Given the description of an element on the screen output the (x, y) to click on. 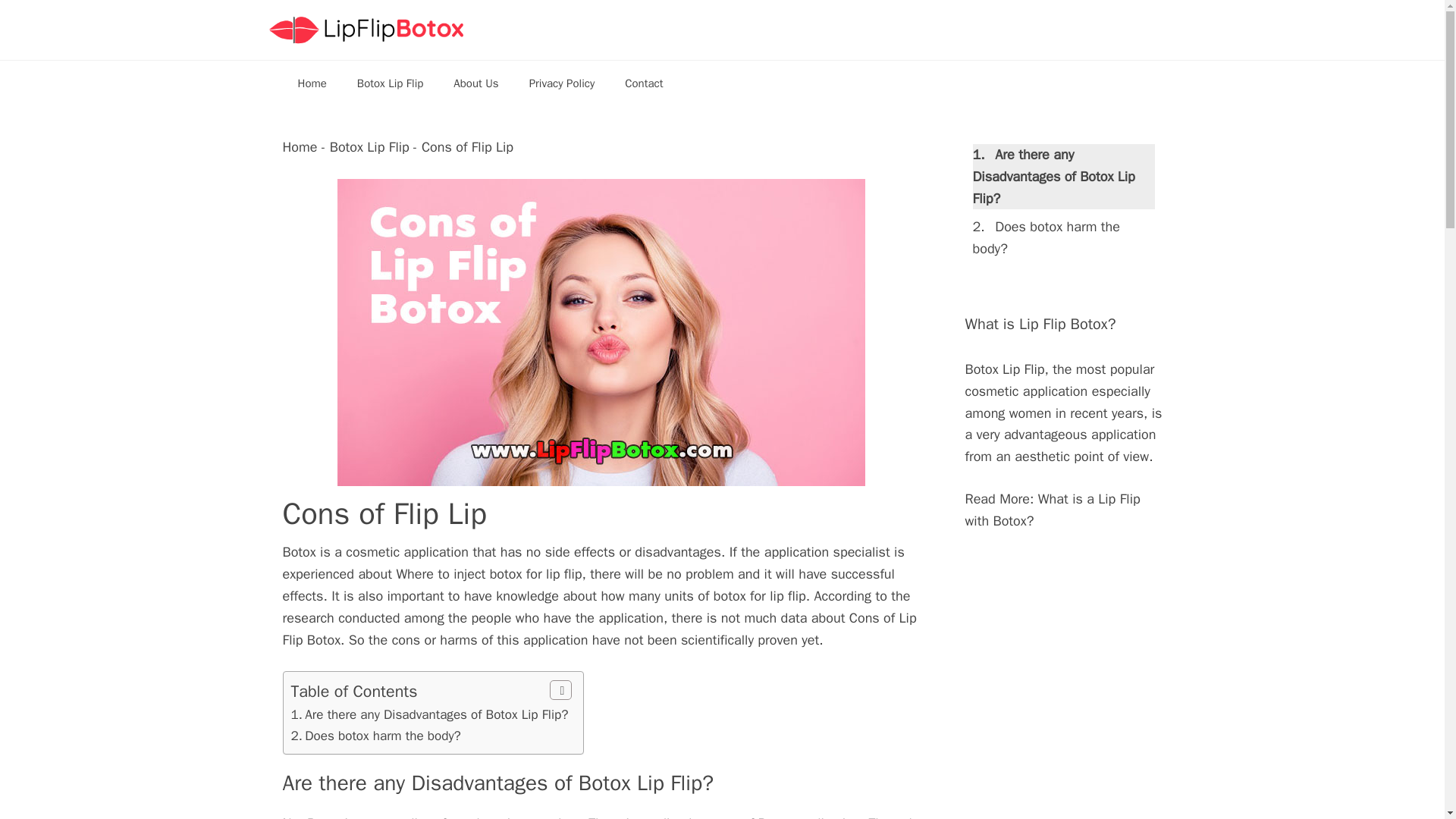
Are there any Disadvantages of Botox Lip Flip? (435, 714)
Lip Flip Botox (365, 30)
Does botox harm the body? (382, 735)
Privacy Policy (561, 83)
Does botox harm the body? (1045, 237)
Does botox harm the body? (1045, 237)
What is a Lip Flip with Botox? (1051, 509)
About Us (475, 83)
Are there any Disadvantages of Botox Lip Flip? (1053, 176)
Home (299, 146)
Lip Flip Botox (365, 28)
Does botox harm the body? (382, 735)
Botox Lip Flip (390, 83)
Home (311, 83)
